Given the description of an element on the screen output the (x, y) to click on. 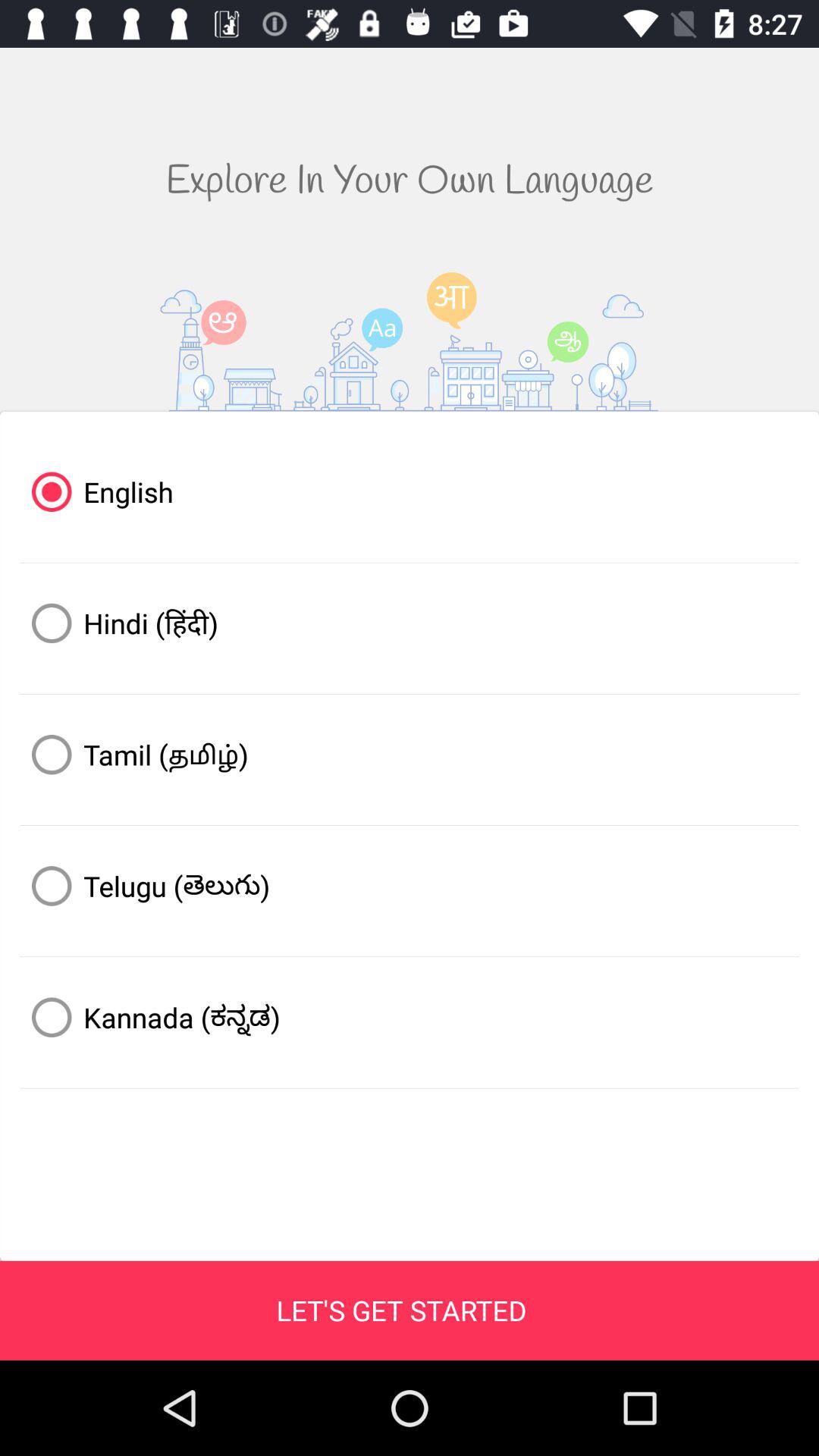
jump until english icon (409, 491)
